Given the description of an element on the screen output the (x, y) to click on. 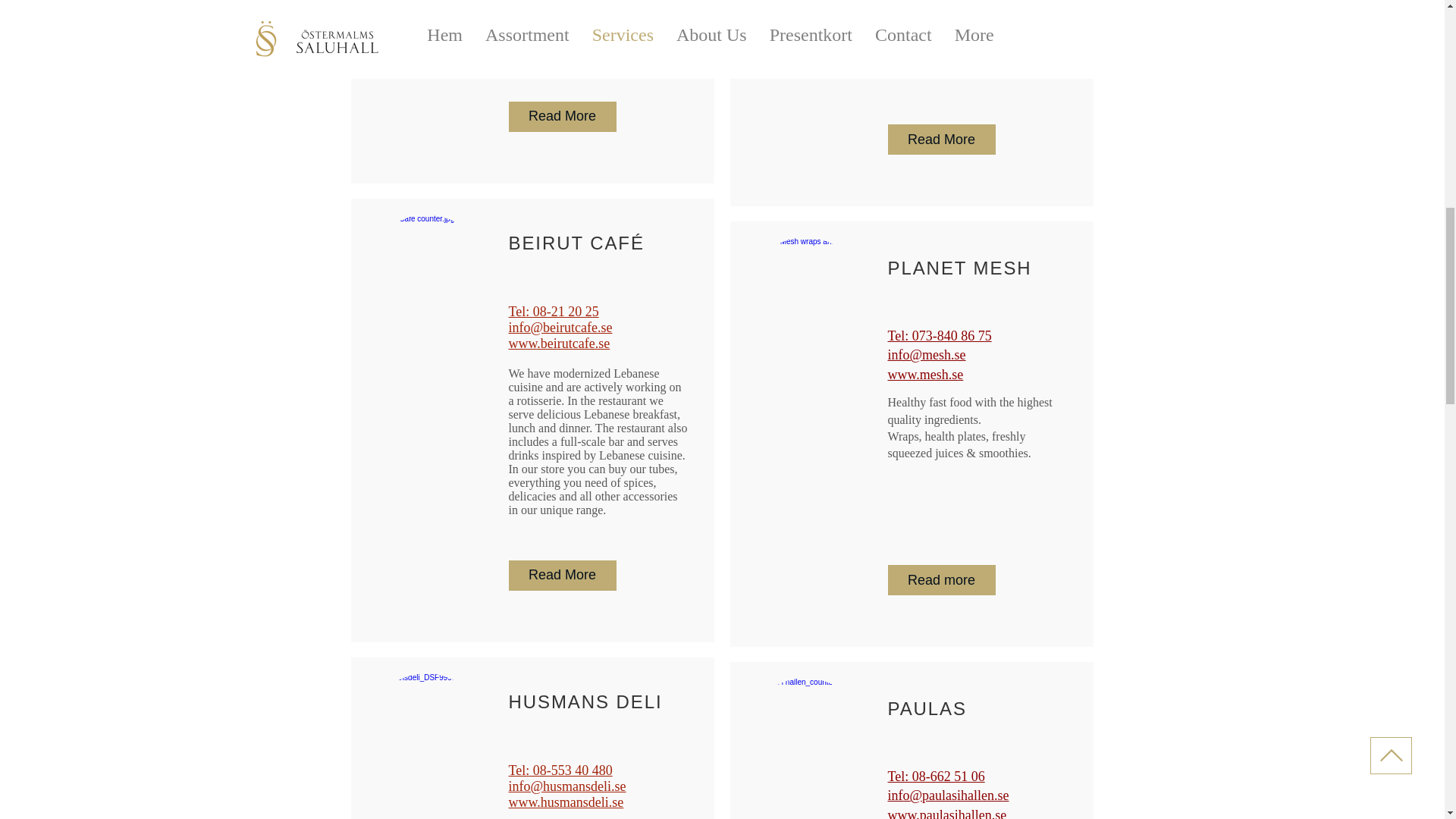
Read More (561, 575)
Read More (561, 116)
www.beirutcafe.se (559, 343)
Tel: 08-21 20 25 (553, 311)
